Given the description of an element on the screen output the (x, y) to click on. 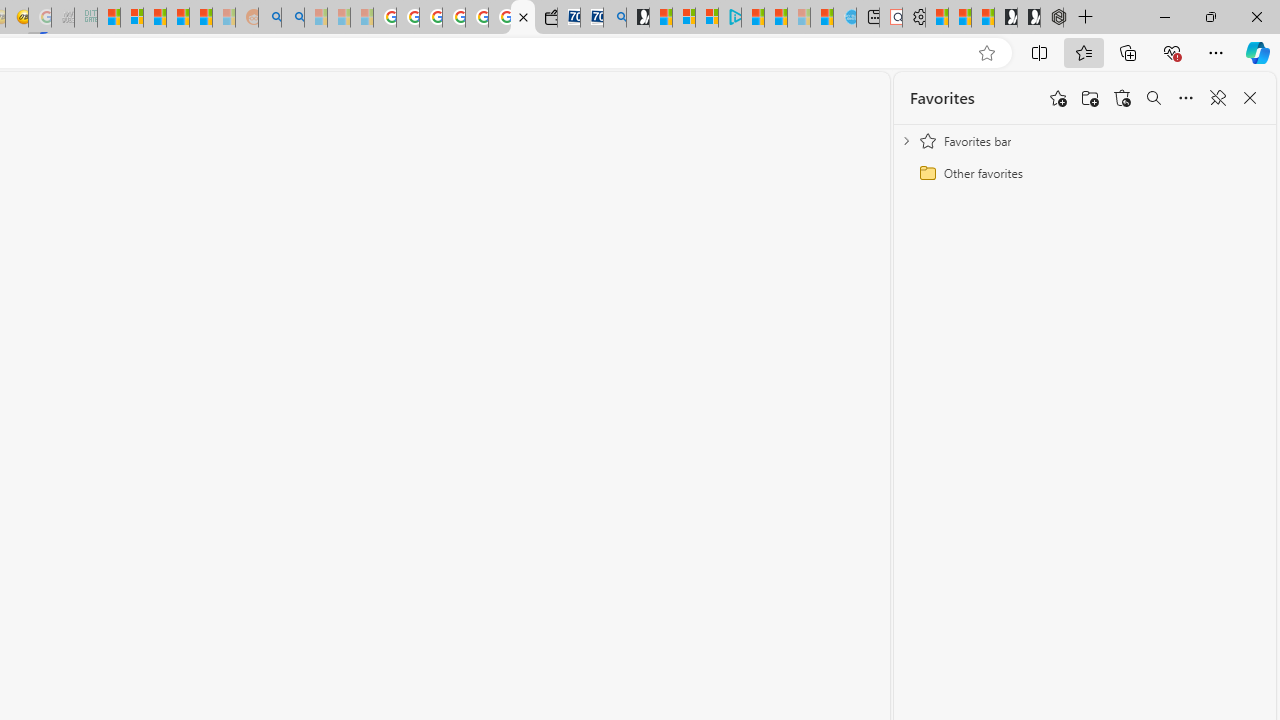
Bing Real Estate - Home sales and rental listings (614, 17)
Student Loan Update: Forgiveness Program Ends This Month (200, 17)
Search favorites (1153, 98)
